Given the description of an element on the screen output the (x, y) to click on. 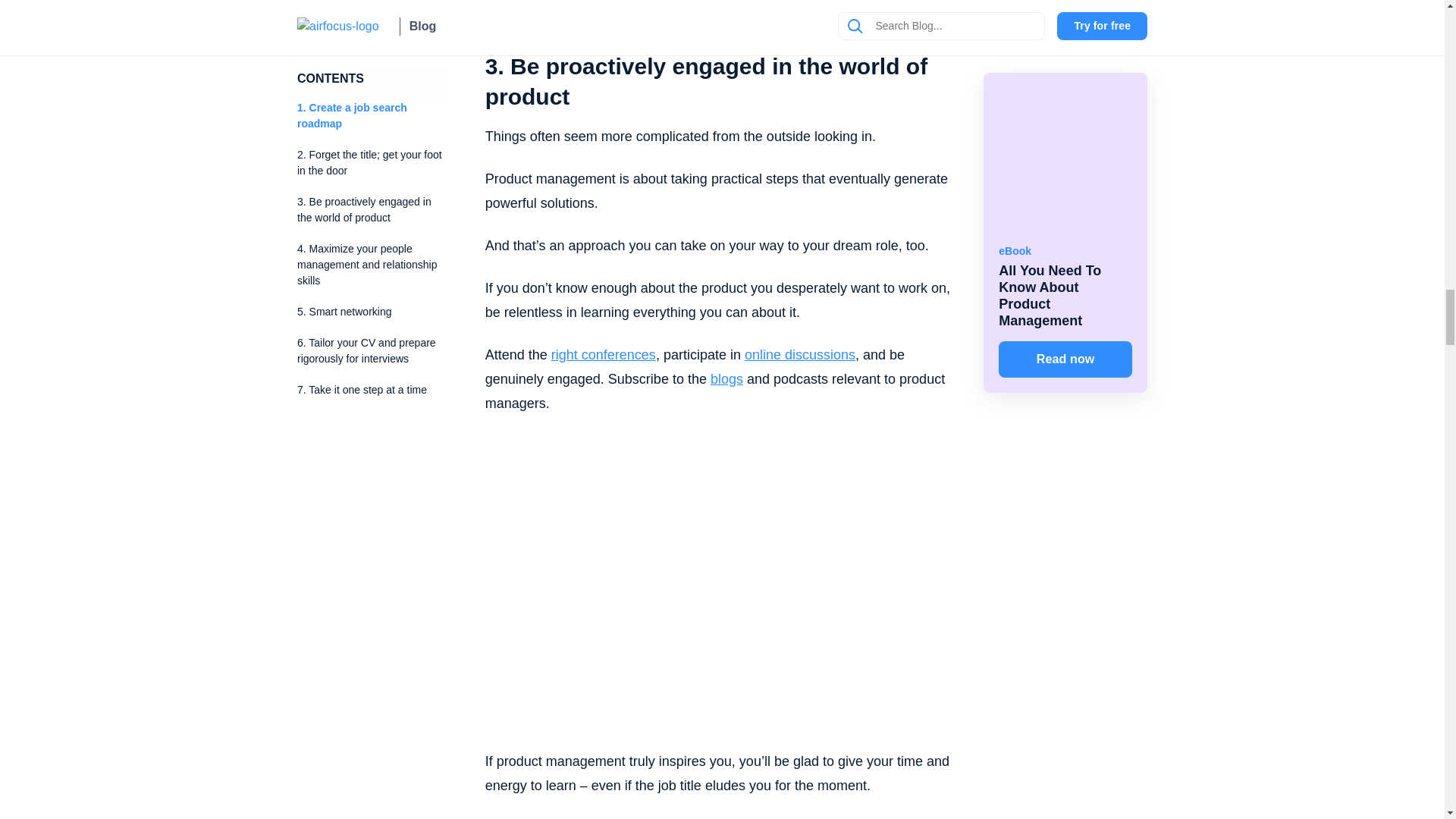
online discussions (798, 354)
right conferences (601, 354)
blogs (726, 378)
